Given the description of an element on the screen output the (x, y) to click on. 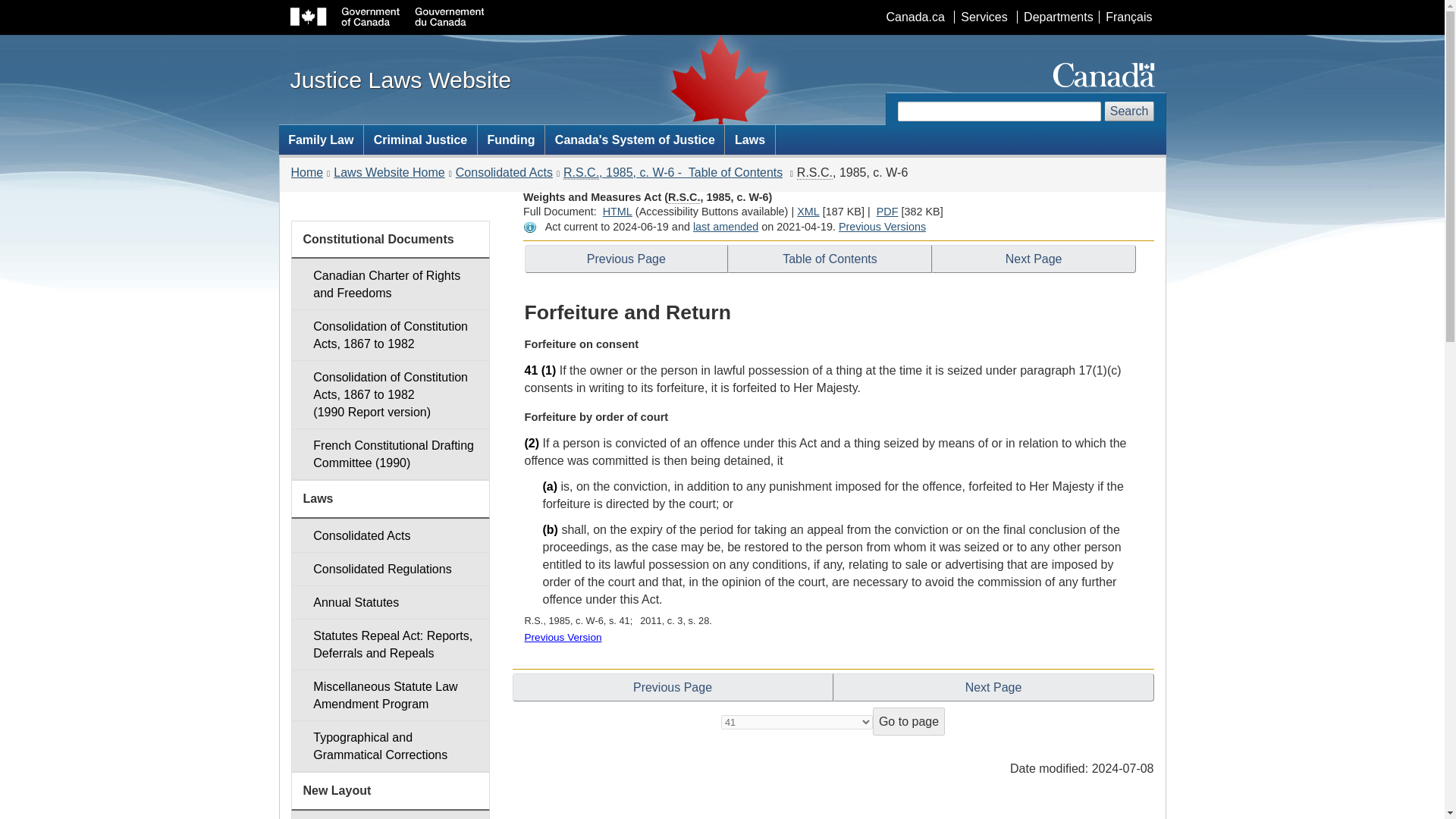
Skip to main content (725, 11)
Revised Statutes of Canada (814, 172)
Revised Statutes of Canada (580, 172)
Criminal Justice (807, 211)
Consolidated Acts (420, 139)
Next Page (504, 172)
Services (1033, 258)
Go to page (983, 16)
Laws Website Home (908, 721)
